Given the description of an element on the screen output the (x, y) to click on. 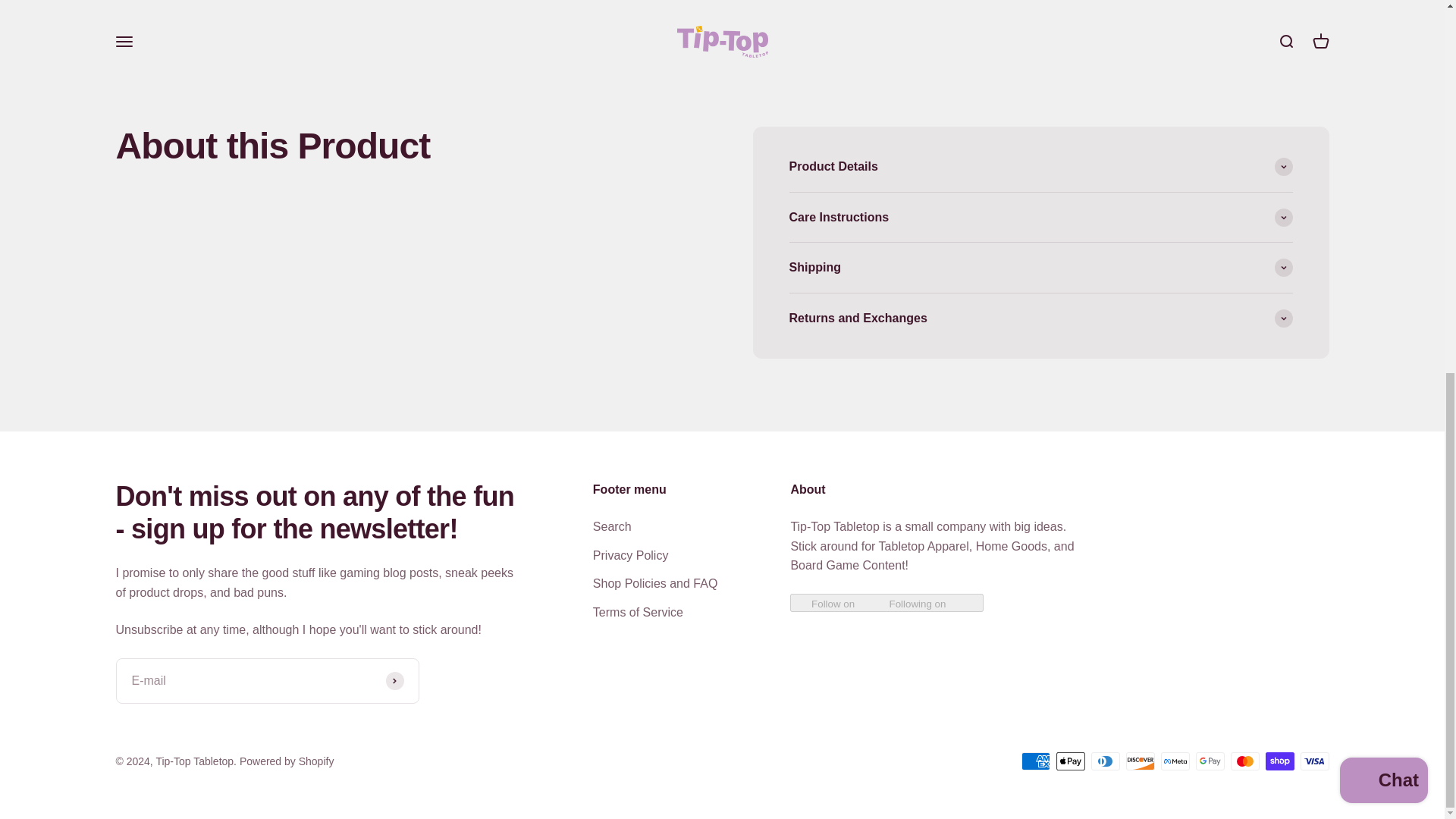
Shop Policies and FAQ (654, 583)
Privacy Policy (630, 555)
Search (611, 526)
Zoom (707, 43)
Subscribe (394, 680)
Powered by Shopify (287, 761)
Shopify online store chat (1383, 101)
Terms of Service (637, 612)
